Given the description of an element on the screen output the (x, y) to click on. 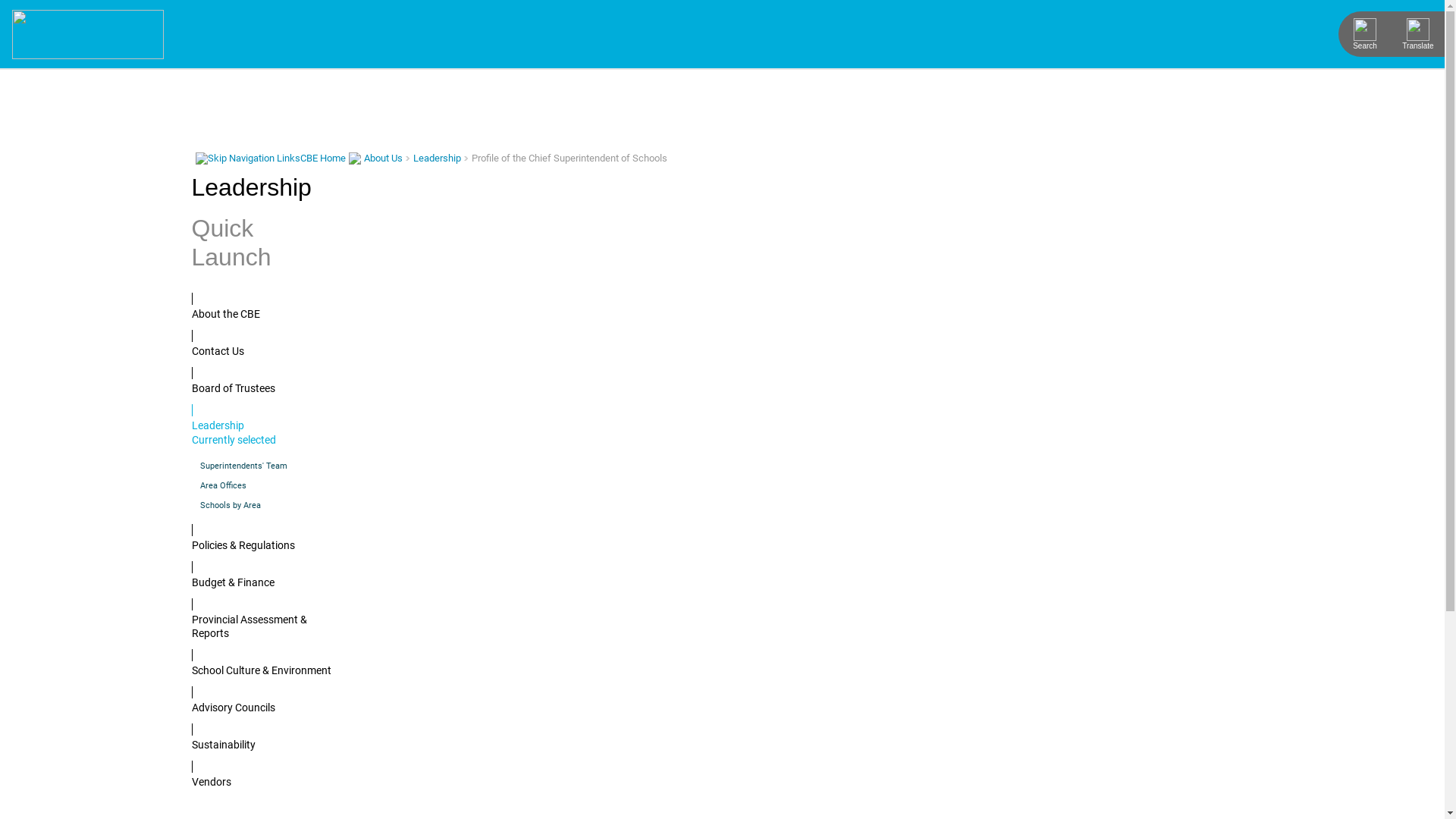
School Culture & Environment Element type: text (261, 663)
Schools by Area Element type: text (261, 504)
Board of Trustees Element type: text (261, 381)
Search Element type: text (1364, 33)
Translate Element type: text (1417, 33)
Provincial Assessment & Reports Element type: text (261, 619)
About the CBE Element type: text (261, 306)
Contact Us Element type: text (261, 343)
Policies & Regulations Element type: text (261, 538)
Budget & Finance Element type: text (261, 575)
CBE Home Element type: text (322, 157)
Superintendents' Team Element type: text (261, 465)
Vendors Element type: text (261, 774)
Leadership
Currently selected Element type: text (261, 424)
Leadership Element type: text (436, 157)
Area Offices Element type: text (261, 485)
Advisory Councils Element type: text (261, 700)
Sustainability Element type: text (261, 737)
About Us Element type: text (383, 157)
